Given the description of an element on the screen output the (x, y) to click on. 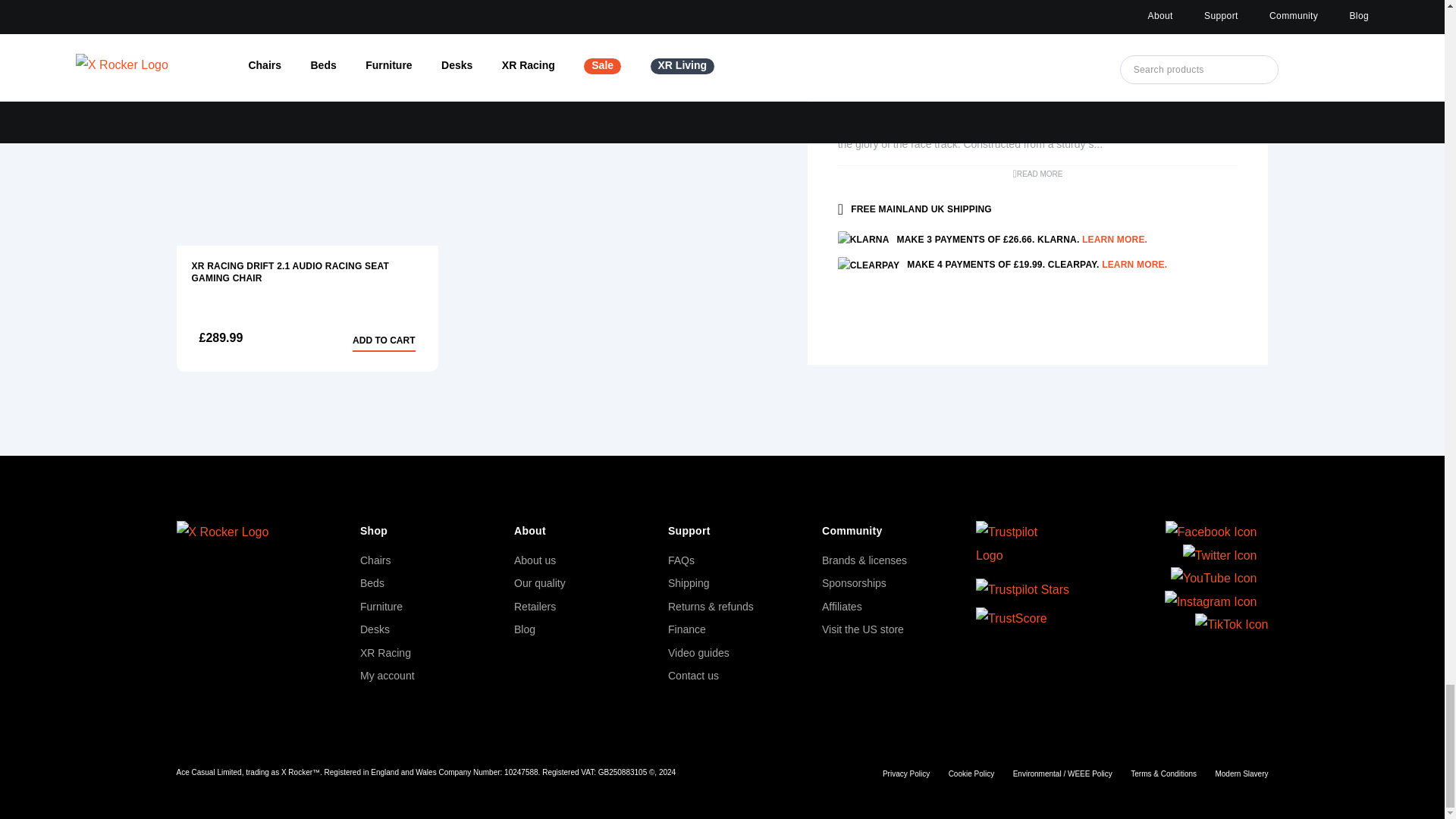
Instagram (1210, 601)
TikTok (1231, 624)
XR Racing Drift 2.1 Audio Racing Seat Gaming Chair (306, 272)
YouTube (1213, 578)
View product (307, 122)
Twitter (1219, 555)
Facebook (1211, 531)
